Given the description of an element on the screen output the (x, y) to click on. 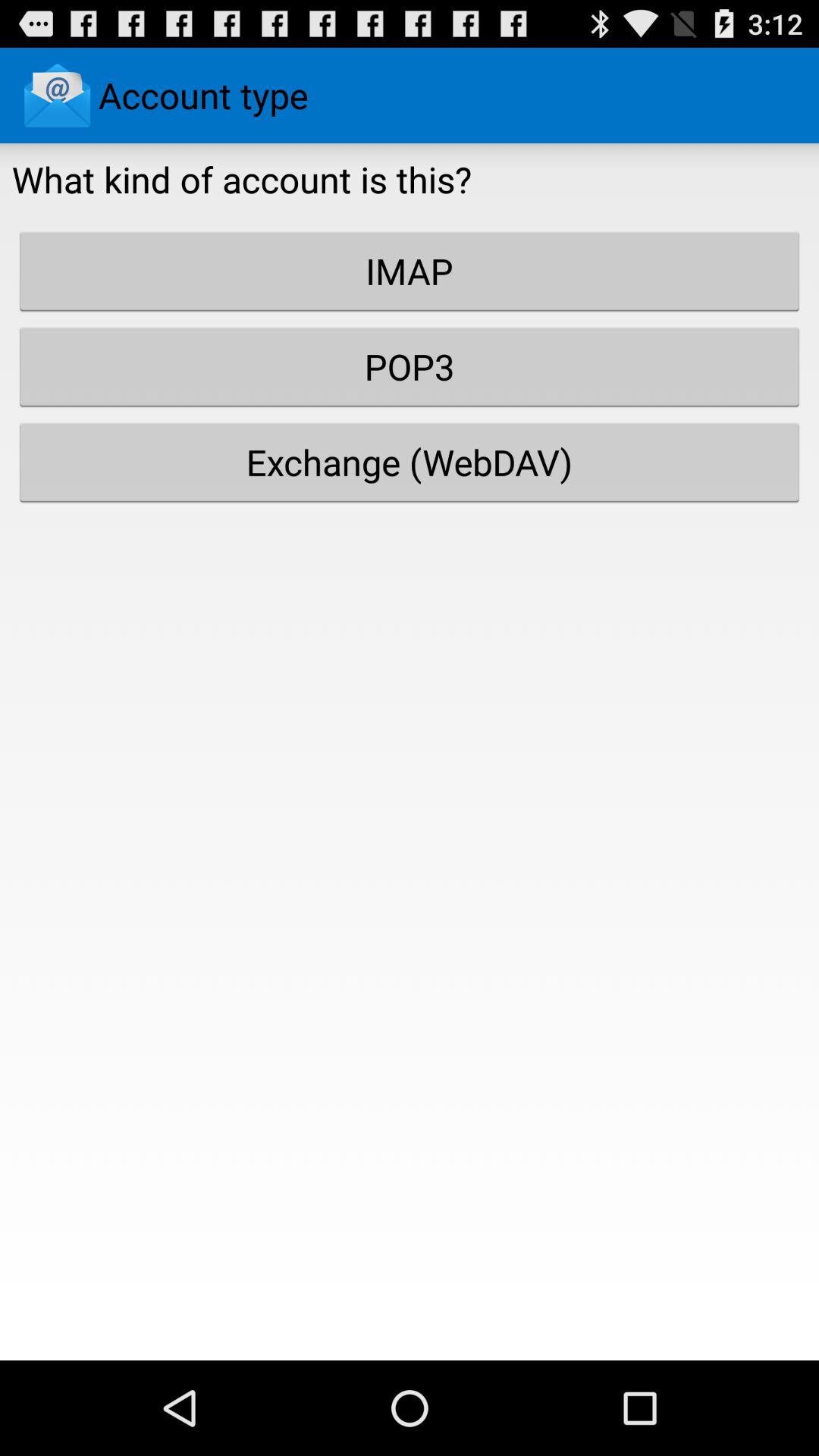
tap pop3 (409, 366)
